Given the description of an element on the screen output the (x, y) to click on. 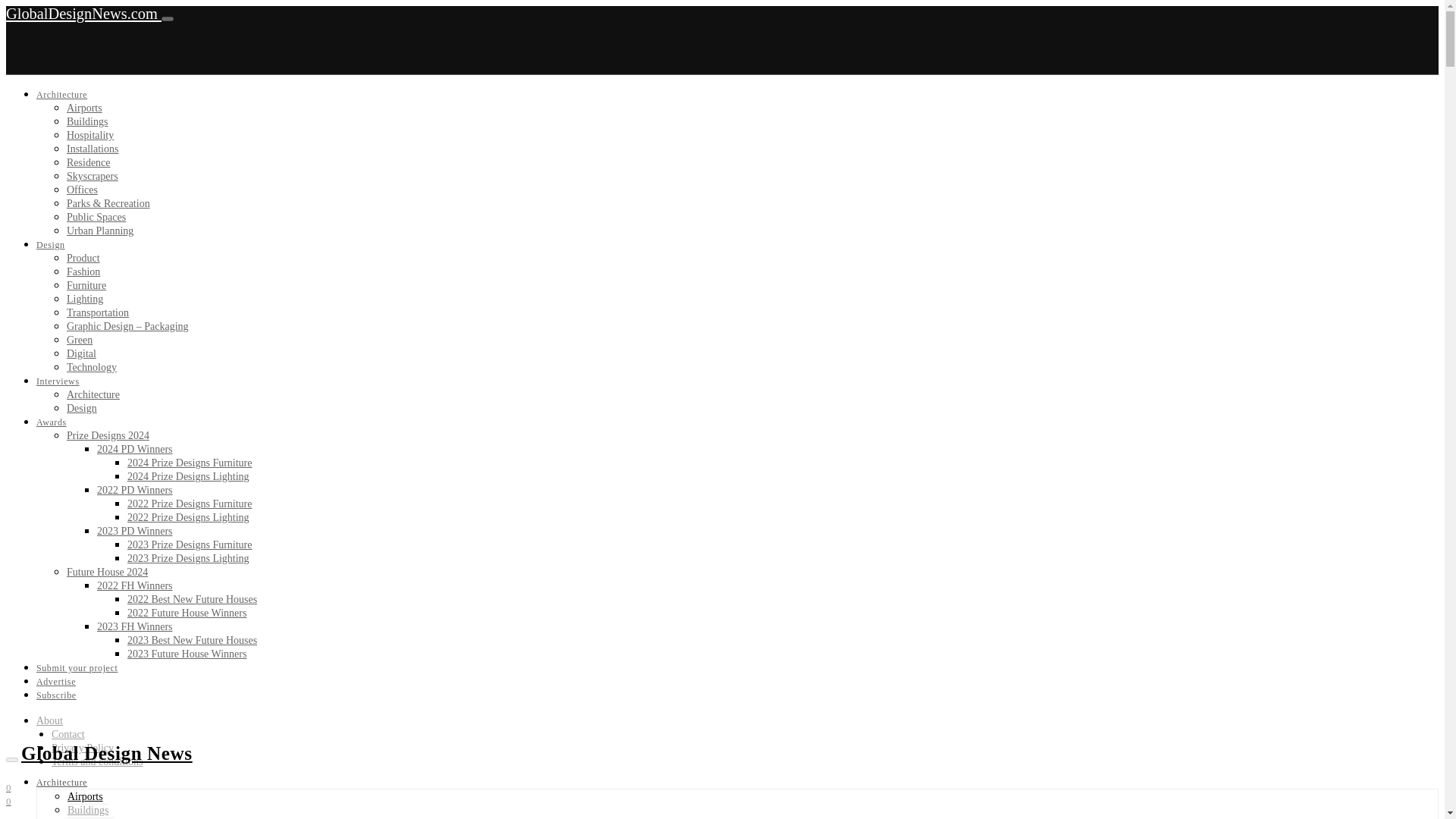
Future House 2024 (107, 572)
Product (83, 257)
Airports (83, 107)
Residence (88, 162)
Prize Designs 2024 (107, 435)
Green (79, 339)
2022 Prize Designs Furniture (189, 503)
2022 FH Winners (135, 585)
Technology (91, 367)
2024 Prize Designs Furniture (189, 462)
Digital (81, 353)
Fashion (83, 271)
Furniture (86, 285)
Lighting (84, 298)
2022 Prize Designs Lighting (188, 517)
